Given the description of an element on the screen output the (x, y) to click on. 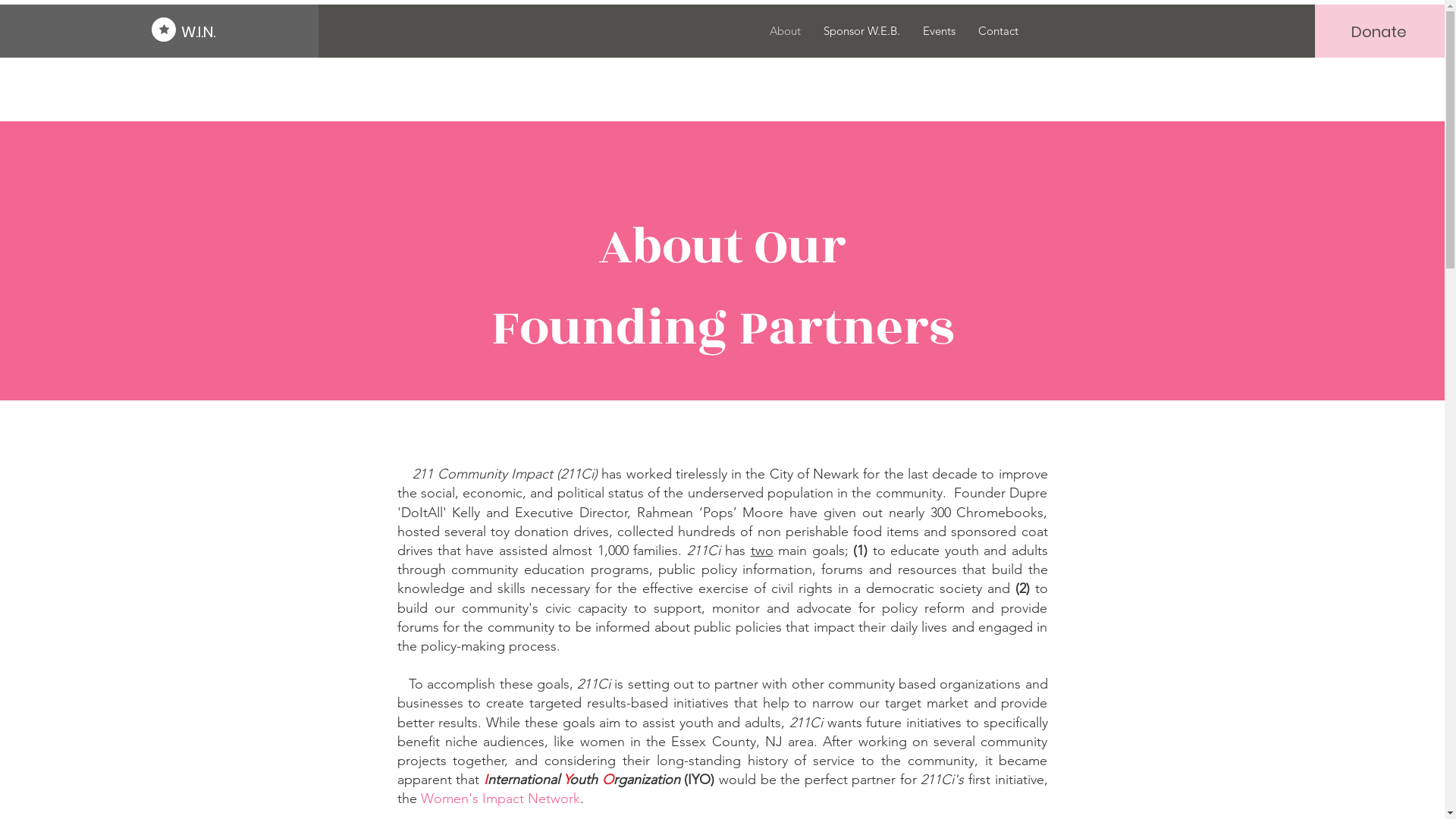
Sponsor W.E.B. Element type: text (861, 30)
About Element type: text (785, 30)
W.I.N. Element type: text (249, 31)
Events Element type: text (938, 30)
Contact Element type: text (997, 30)
Donate Element type: text (1378, 31)
